Given the description of an element on the screen output the (x, y) to click on. 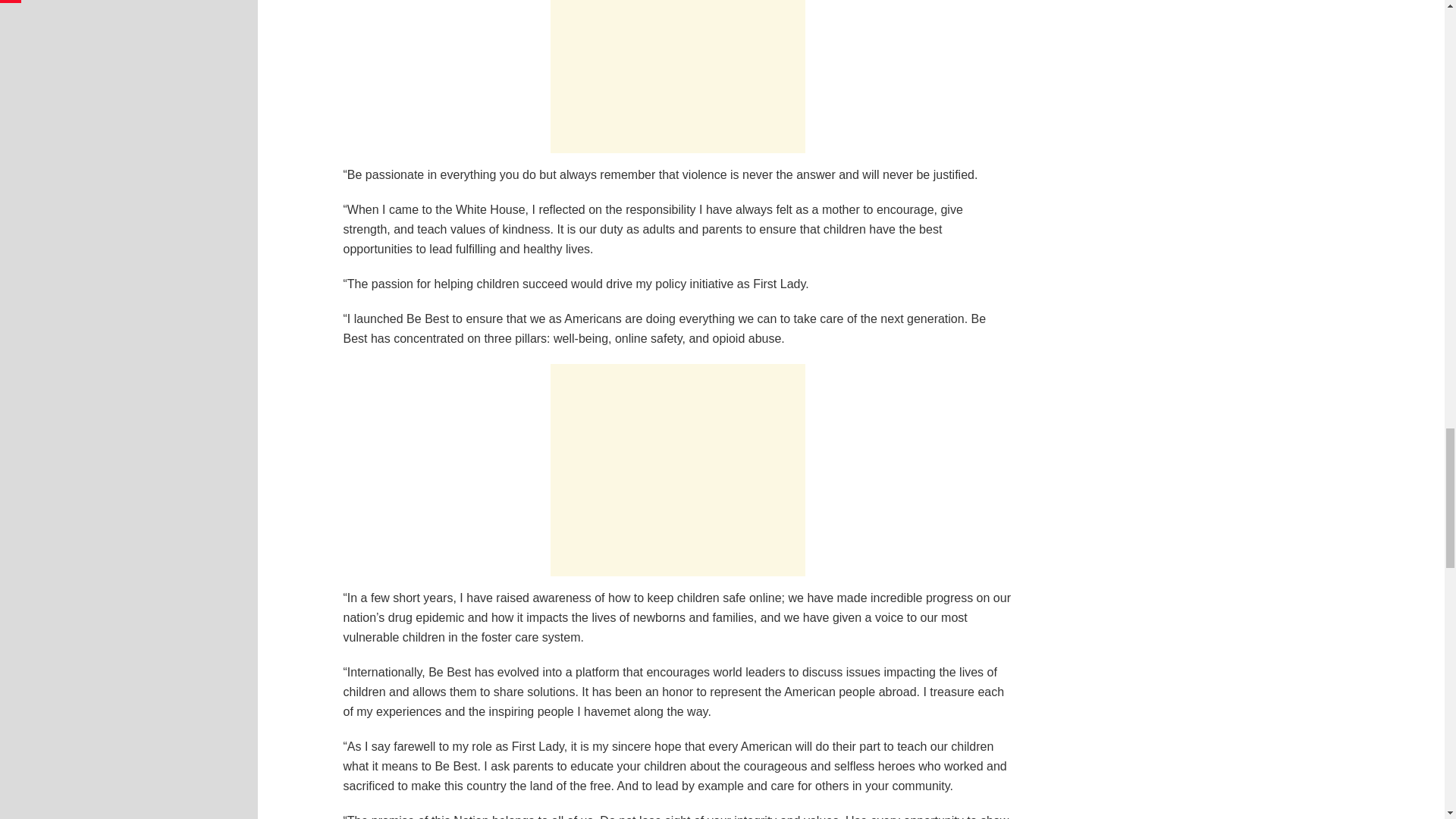
Advertisement (677, 76)
Advertisement (677, 469)
